Given the description of an element on the screen output the (x, y) to click on. 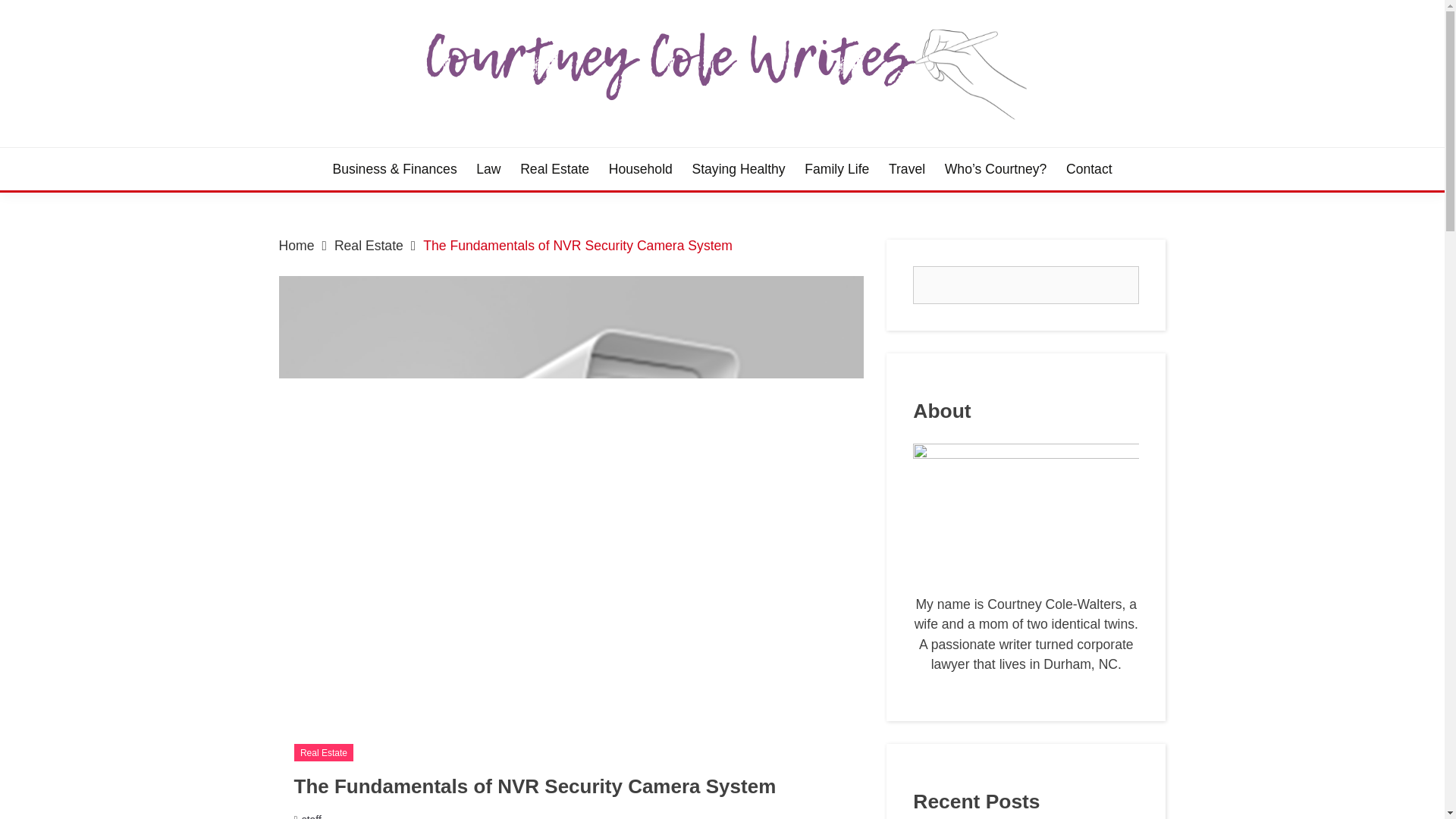
Real Estate (554, 168)
Law (488, 168)
Contact (1088, 168)
COURTNEY COLE WRITES (535, 150)
Family Life (837, 168)
Travel (906, 168)
The Fundamentals of NVR Security Camera System (577, 245)
Real Estate (368, 245)
Staying Healthy (737, 168)
Household (640, 168)
Home (296, 245)
staff (311, 816)
Real Estate (323, 752)
